Given the description of an element on the screen output the (x, y) to click on. 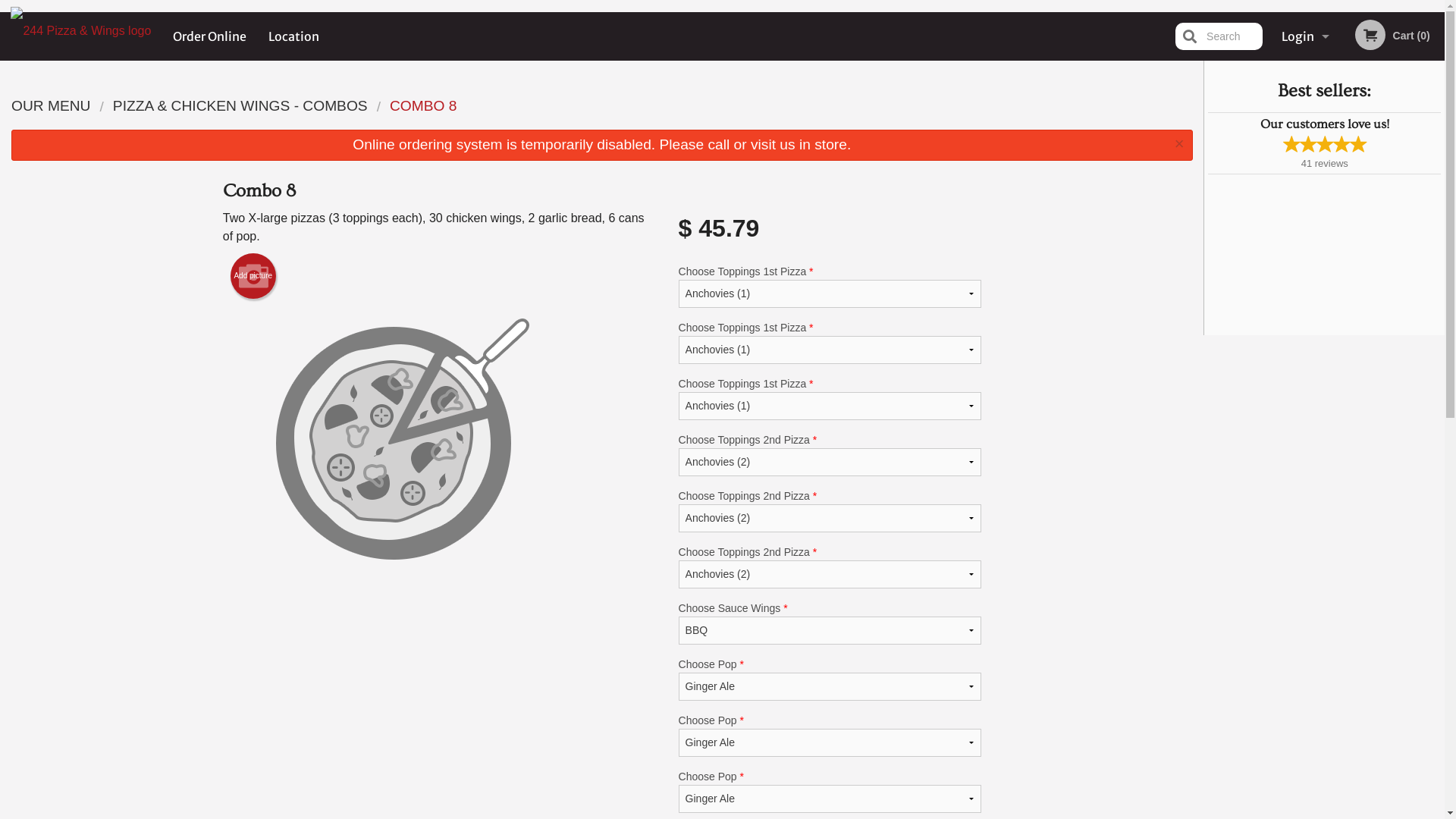
Our customers love us!
41 reviews Element type: text (1324, 142)
Order Online Element type: text (209, 36)
Add picture Element type: text (253, 275)
Registration Element type: text (1304, 84)
COMBO 8 Element type: text (423, 105)
PIZZA & CHICKEN WINGS - COMBOS Element type: text (239, 105)
Login Element type: text (1304, 36)
OUR MENU Element type: text (50, 105)
Location Element type: text (293, 36)
